Given the description of an element on the screen output the (x, y) to click on. 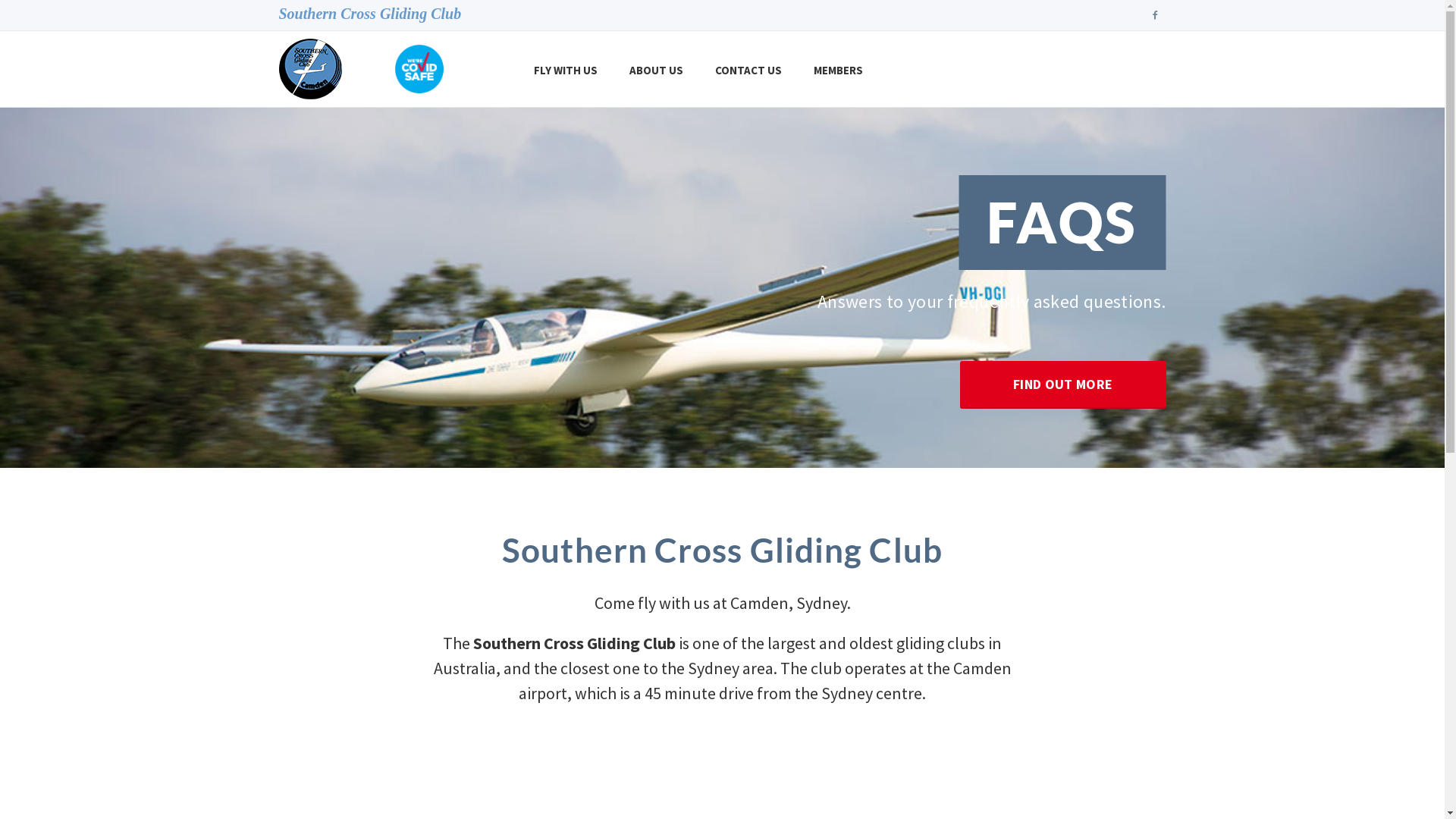
CONTACT US Element type: text (748, 69)
READ Element type: text (721, 350)
FLY WITH US Element type: text (565, 69)
ABOUT US Element type: text (656, 69)
MEMBERS Element type: text (837, 69)
